Given the description of an element on the screen output the (x, y) to click on. 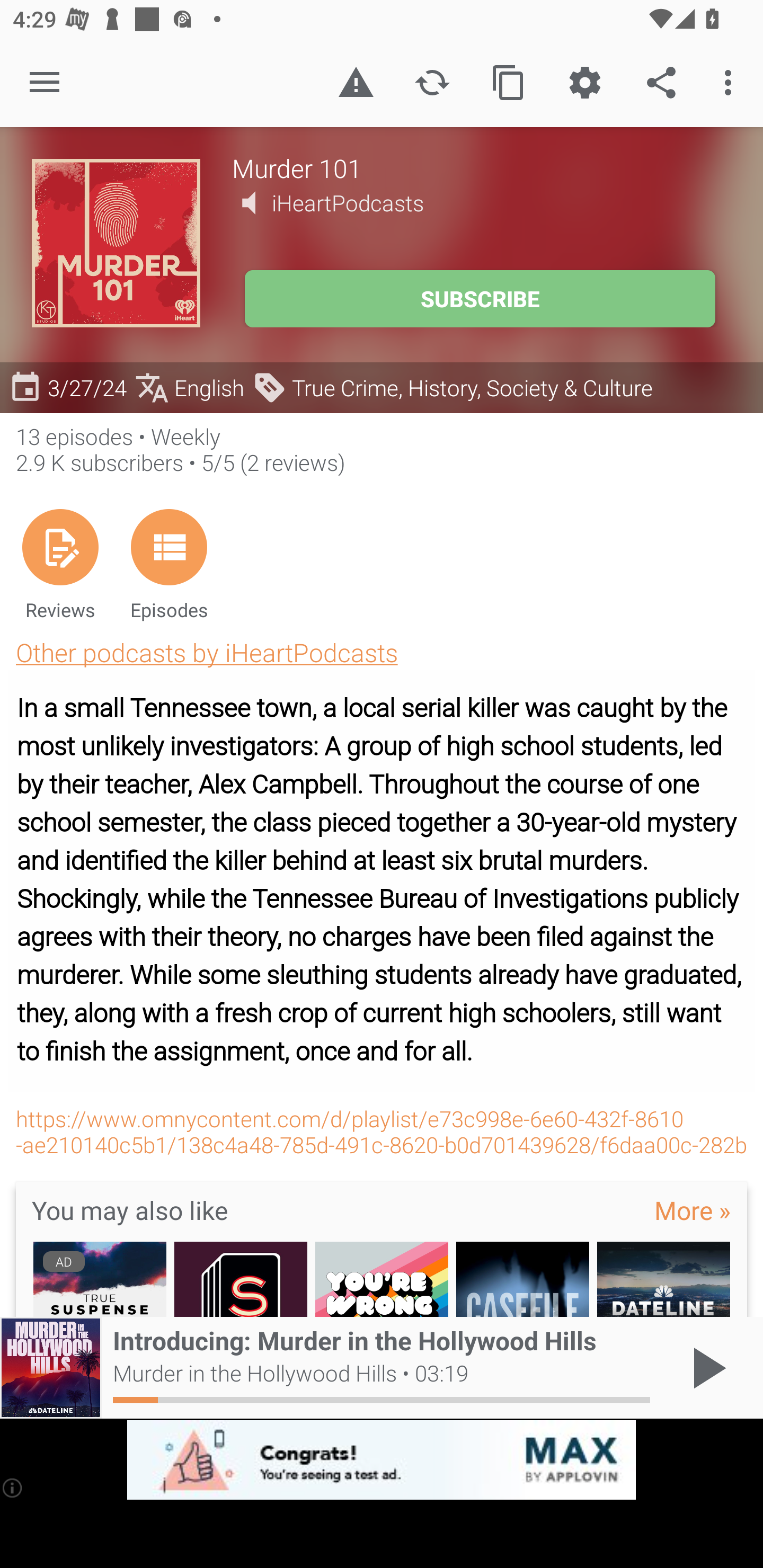
Open navigation sidebar (44, 82)
Report inappropriate content (356, 81)
Refresh podcast description (432, 81)
Copy feed url to clipboard (508, 81)
Custom Settings (585, 81)
Share the podcast (661, 81)
More options (731, 81)
Murder 101 (480, 167)
iHeartPodcasts (347, 202)
SUBSCRIBE (479, 298)
True Crime, History, Society & Culture (452, 387)
Reviews (60, 564)
Episodes (169, 564)
Other podcasts by iHeartPodcasts (207, 652)
More » (692, 1210)
AD (99, 1279)
Play / Pause (705, 1367)
app-monetization (381, 1459)
(i) (11, 1487)
